Given the description of an element on the screen output the (x, y) to click on. 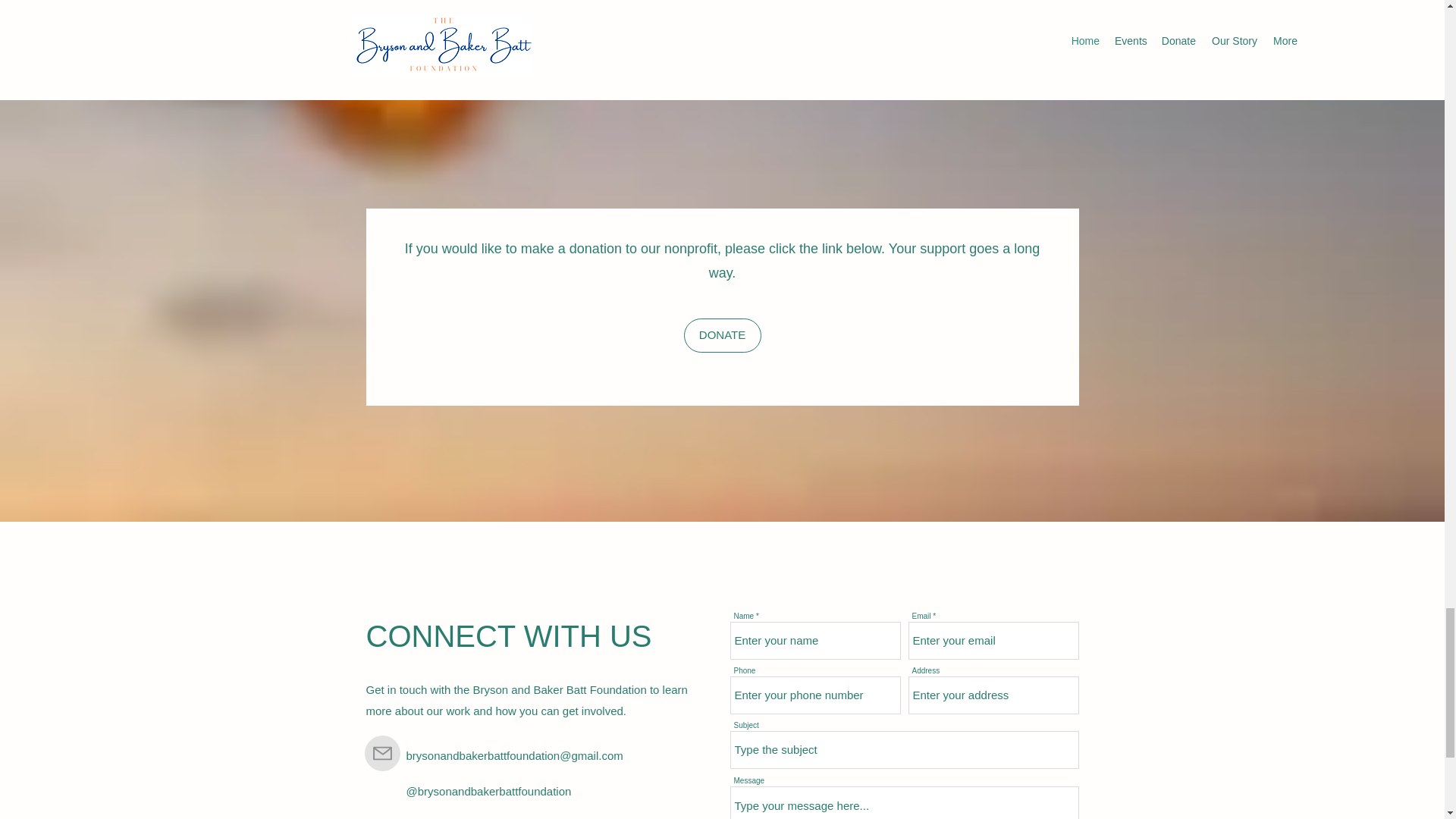
DONATE (722, 335)
